Given the description of an element on the screen output the (x, y) to click on. 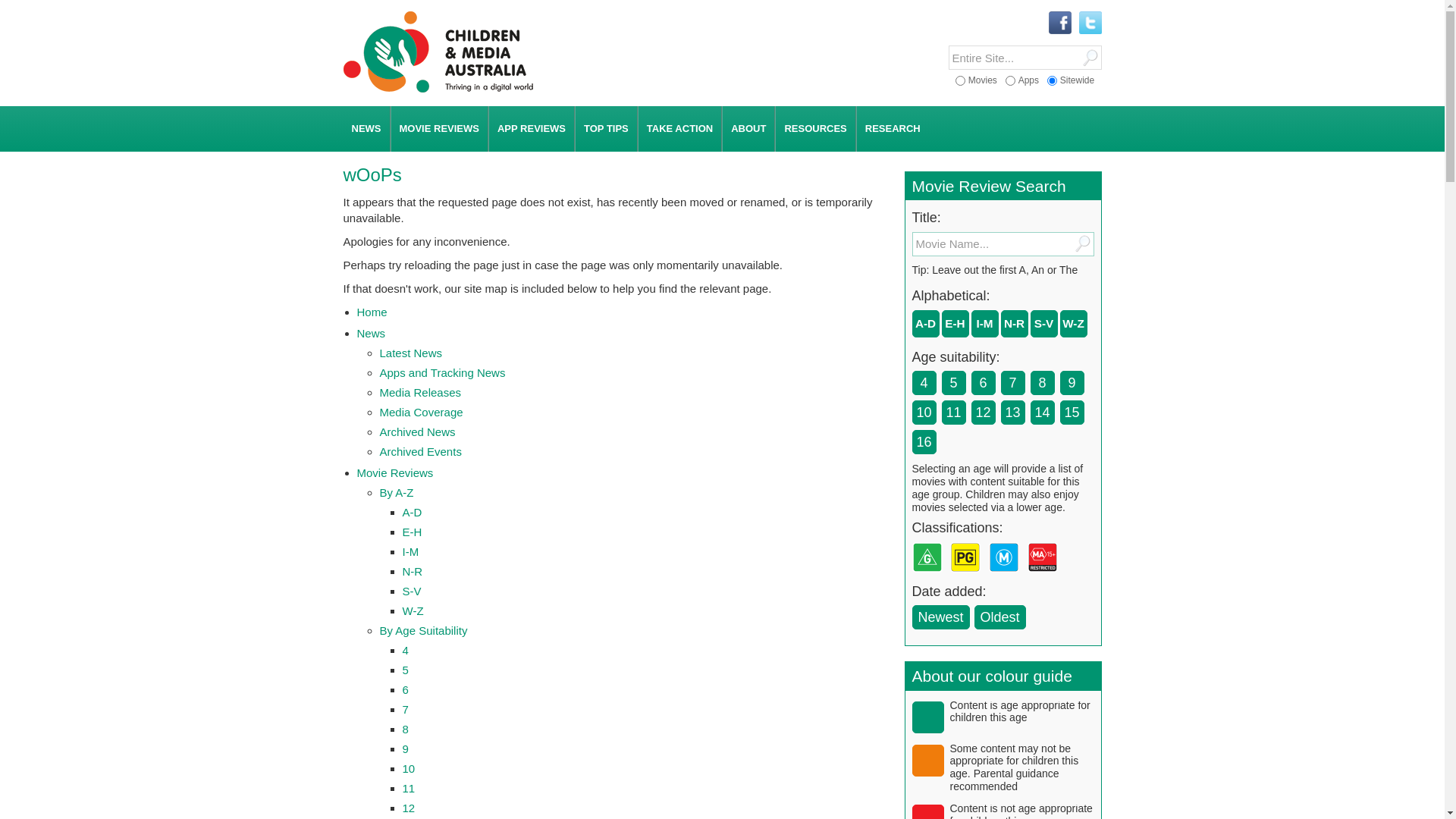
S-V Element type: text (410, 590)
13 Element type: text (1012, 412)
Archived Events Element type: text (420, 451)
TOP TIPS Element type: text (606, 128)
Search Movie Reviews by Movie Name Element type: hover (990, 243)
10 Element type: text (924, 412)
11 Element type: text (952, 412)
11 Element type: text (407, 787)
Home Element type: text (371, 311)
Reviews of G rated movies Element type: hover (929, 575)
Movie Reviews Element type: text (394, 472)
W-Z Element type: text (412, 610)
Find us on Facebook Element type: hover (1059, 23)
Archived News Element type: text (417, 431)
RESOURCES Element type: text (814, 128)
15 Element type: text (1071, 412)
A-D Element type: text (411, 511)
7 Element type: text (1012, 382)
Media Releases Element type: text (420, 391)
Latest News Element type: text (410, 352)
S-V Element type: text (1044, 323)
I-M Element type: text (409, 551)
12 Element type: text (407, 807)
Media Coverage Element type: text (420, 411)
8 Element type: text (1042, 382)
ACCM home Element type: hover (437, 89)
12 Element type: text (983, 412)
By Age Suitability Element type: text (423, 630)
10 Element type: text (407, 768)
Apps and Tracking News Element type: text (442, 372)
Search entire site Element type: hover (1012, 57)
N-R Element type: text (411, 570)
Movie Review Search Element type: text (988, 185)
APP REVIEWS Element type: text (531, 128)
Oldest Element type: text (1000, 616)
6 Element type: text (404, 689)
6 Element type: text (983, 382)
Reviews of M rated movies Element type: hover (1006, 575)
I-M Element type: text (984, 323)
9 Element type: text (404, 748)
4 Element type: text (924, 382)
16 Element type: text (924, 441)
A-D Element type: text (925, 323)
5 Element type: text (952, 382)
Click to Search Element type: hover (1081, 243)
MOVIE REVIEWS Element type: text (439, 128)
E-H Element type: text (954, 323)
14 Element type: text (1042, 412)
W-Z Element type: text (1072, 323)
RESEARCH Element type: text (892, 128)
By A-Z Element type: text (396, 492)
7 Element type: text (404, 708)
News Element type: text (370, 332)
8 Element type: text (404, 728)
N-R Element type: text (1013, 323)
9 Element type: text (1071, 382)
4 Element type: text (404, 649)
Reviews of MA15+ rated movies Element type: hover (1045, 575)
Follow us on Twitter Element type: hover (1089, 23)
Reviews of PG rated movies Element type: hover (968, 575)
TAKE ACTION Element type: text (679, 128)
E-H Element type: text (411, 531)
Newest Element type: text (940, 616)
Click to Search Element type: hover (1089, 57)
5 Element type: text (404, 669)
NEWS Element type: text (365, 128)
ABOUT Element type: text (748, 128)
